Given the description of an element on the screen output the (x, y) to click on. 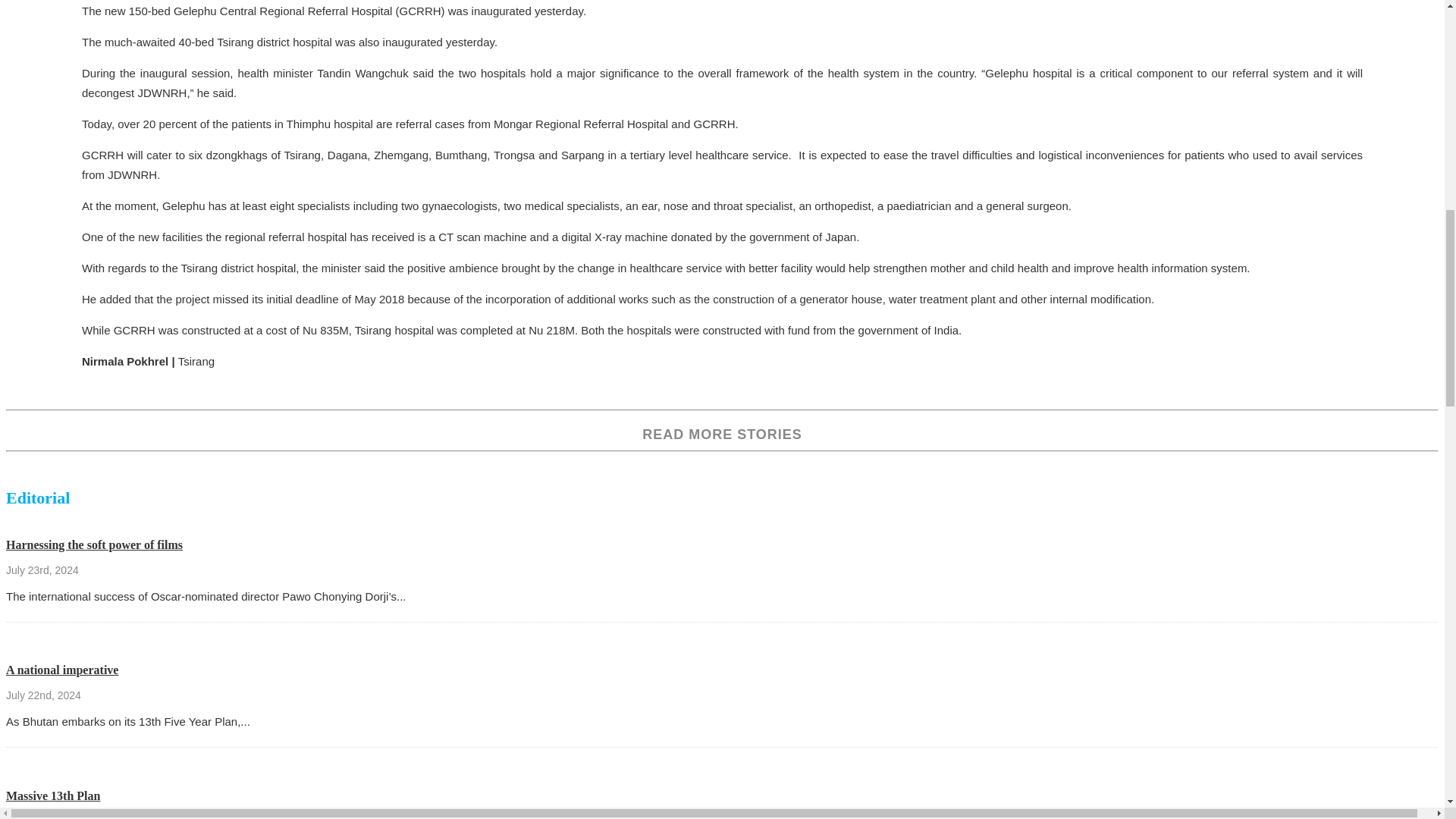
Massive 13th Plan (52, 795)
A national imperative (61, 669)
Harnessing the soft power of films (94, 544)
